Given the description of an element on the screen output the (x, y) to click on. 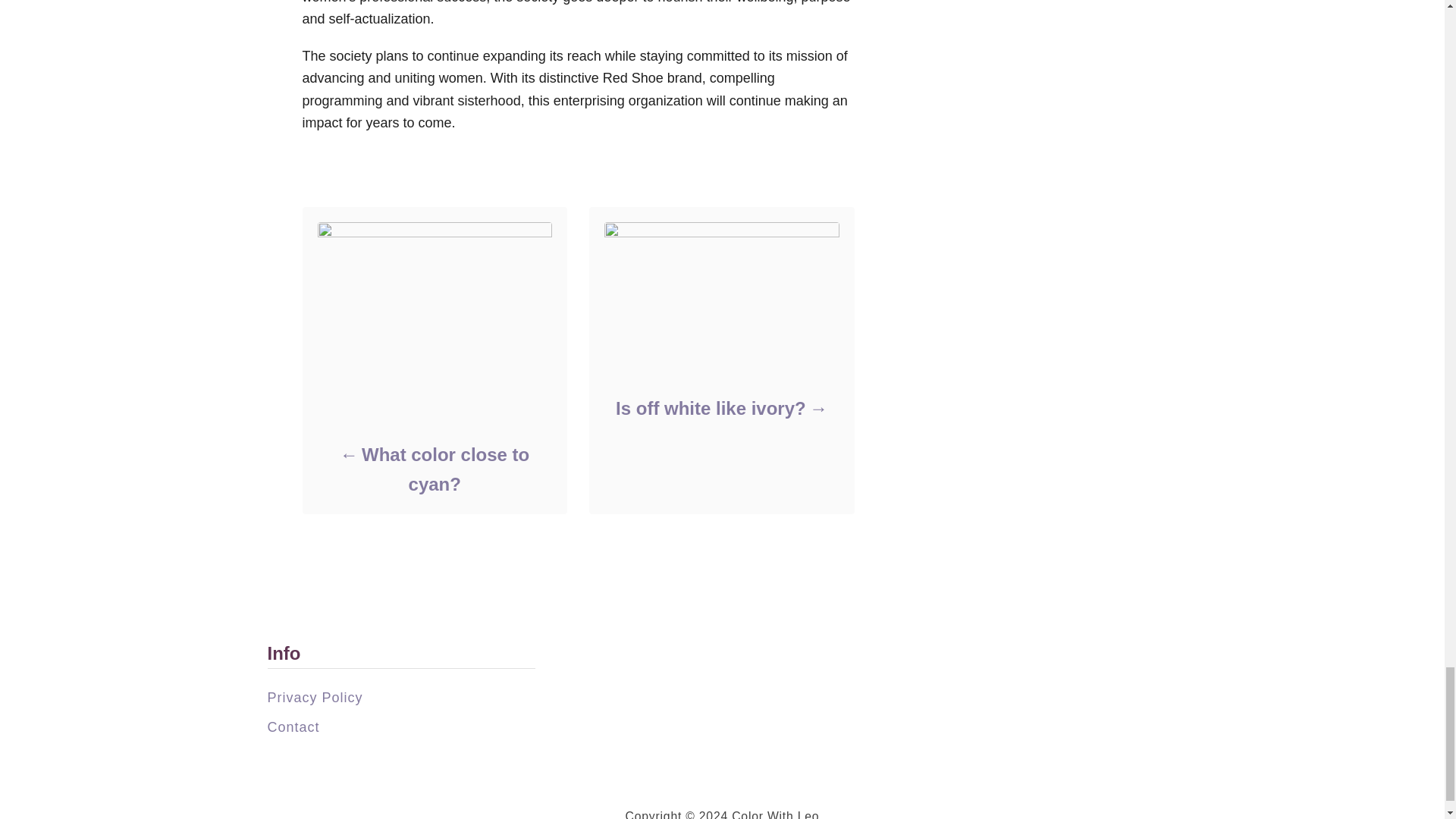
Contact (292, 726)
What color close to cyan? (434, 468)
Privacy Policy (314, 697)
Is off white like ivory? (721, 408)
